Given the description of an element on the screen output the (x, y) to click on. 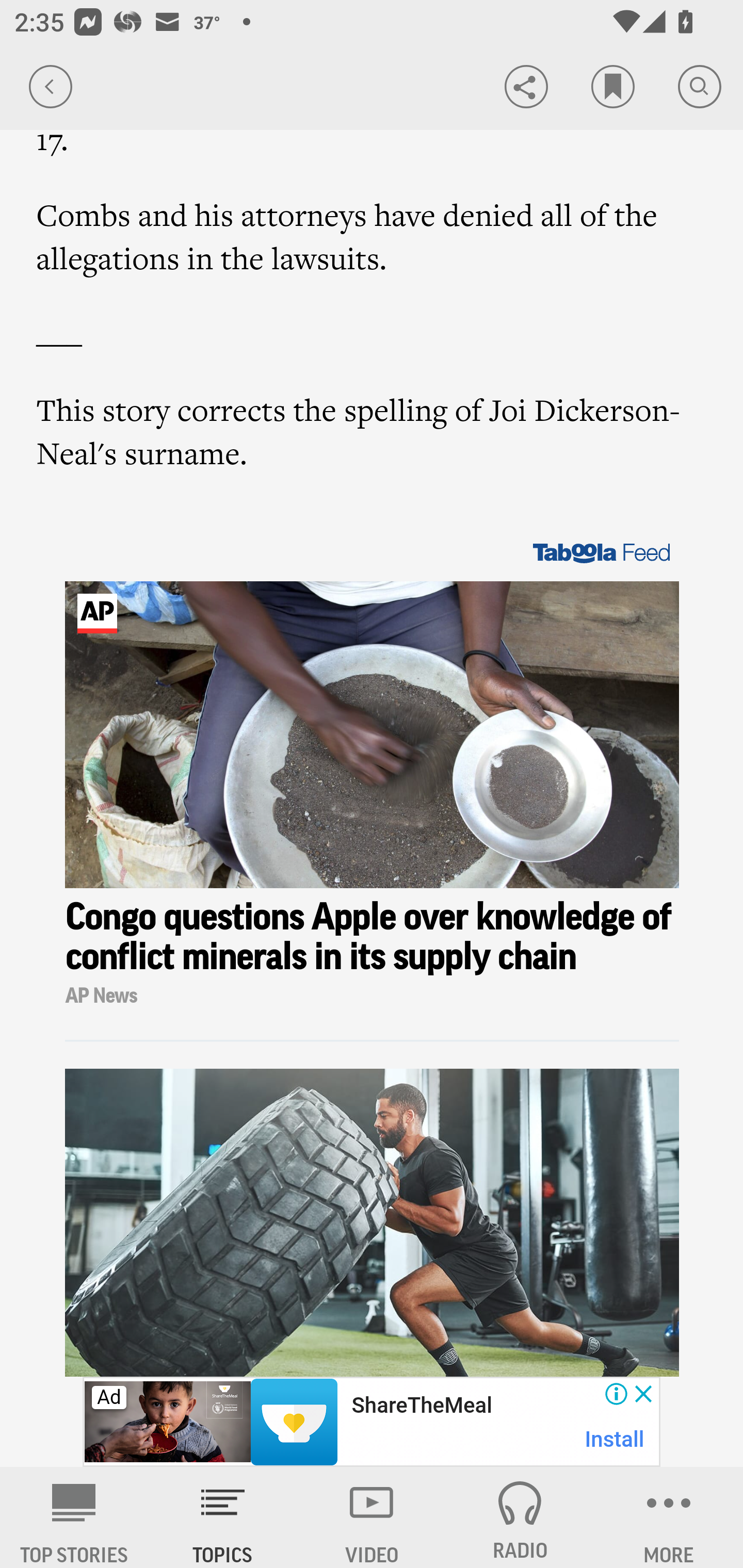
Image for Taboola Advertising Unit (372, 735)
ShareTheMeal (420, 1405)
Install (614, 1438)
AP News TOP STORIES (74, 1517)
TOPICS (222, 1517)
VIDEO (371, 1517)
RADIO (519, 1517)
MORE (668, 1517)
